Given the description of an element on the screen output the (x, y) to click on. 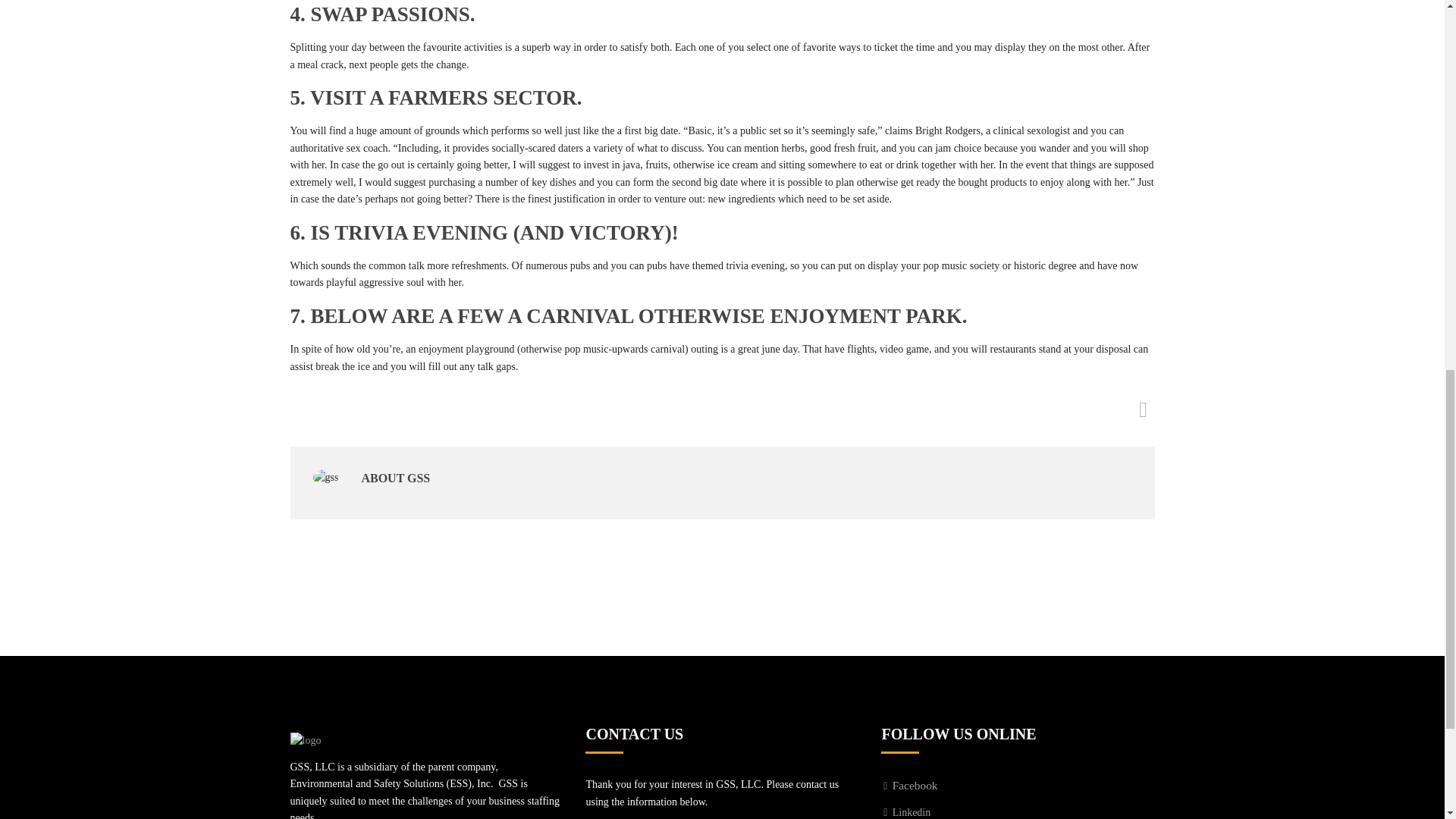
Facebook (908, 785)
 Linkedin (905, 812)
